Given the description of an element on the screen output the (x, y) to click on. 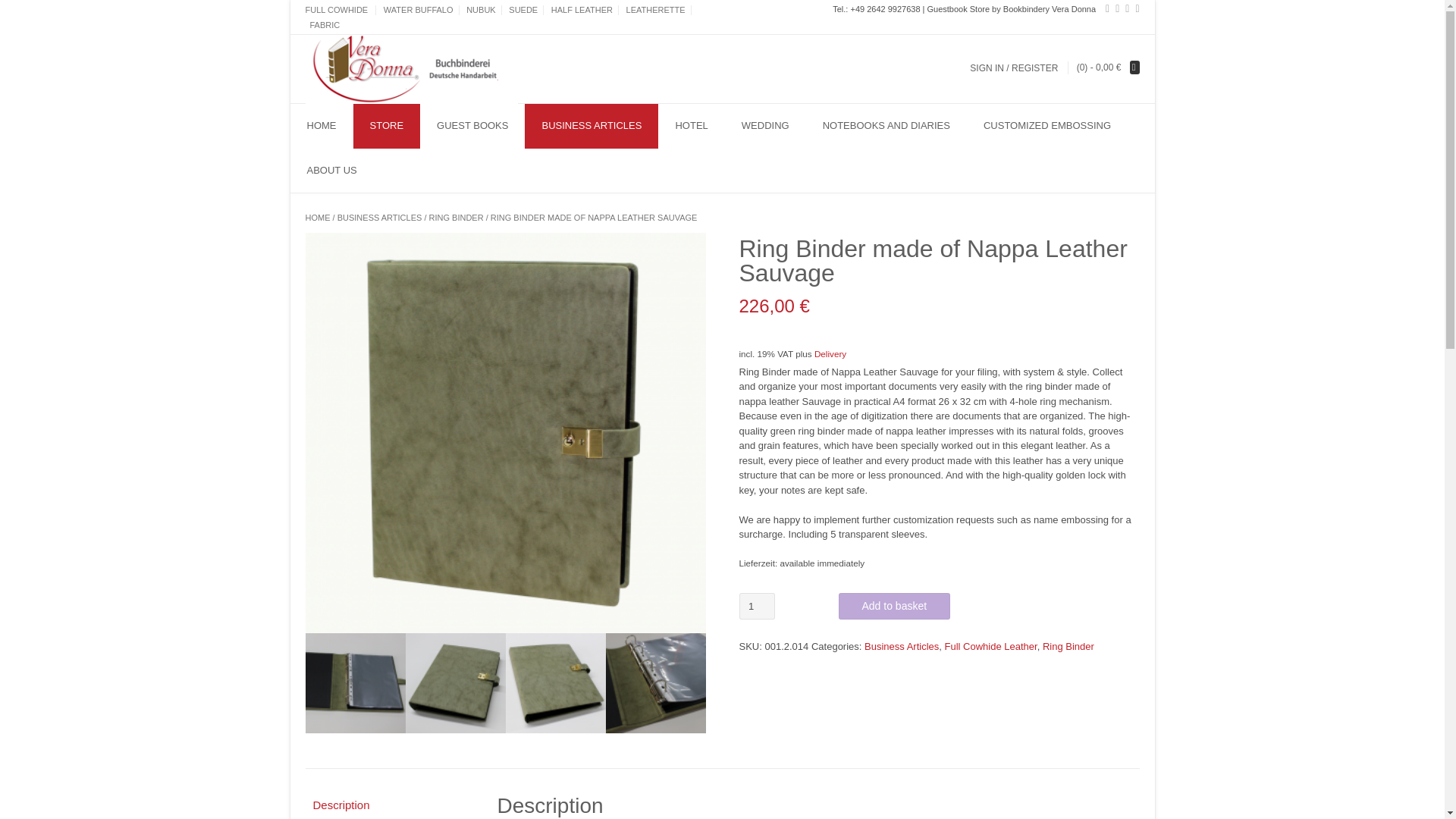
CUSTOMIZED EMBOSSING (1046, 126)
FABRIC (321, 24)
ring-binder-folder-nappa-sauvage-02 (354, 683)
SUEDE (523, 9)
ring-binder-folder-nappa-sauvage-03 (654, 683)
GUEST BOOKS (472, 126)
View our YouTube Channel (1133, 8)
ABOUT US (330, 170)
FULL COWHIDE (339, 9)
HOME (317, 216)
BUSINESS ARTICLES (591, 126)
HOTEL (690, 126)
HOME (320, 126)
NOTEBOOKS AND DIARIES (886, 126)
1 (756, 605)
